Given the description of an element on the screen output the (x, y) to click on. 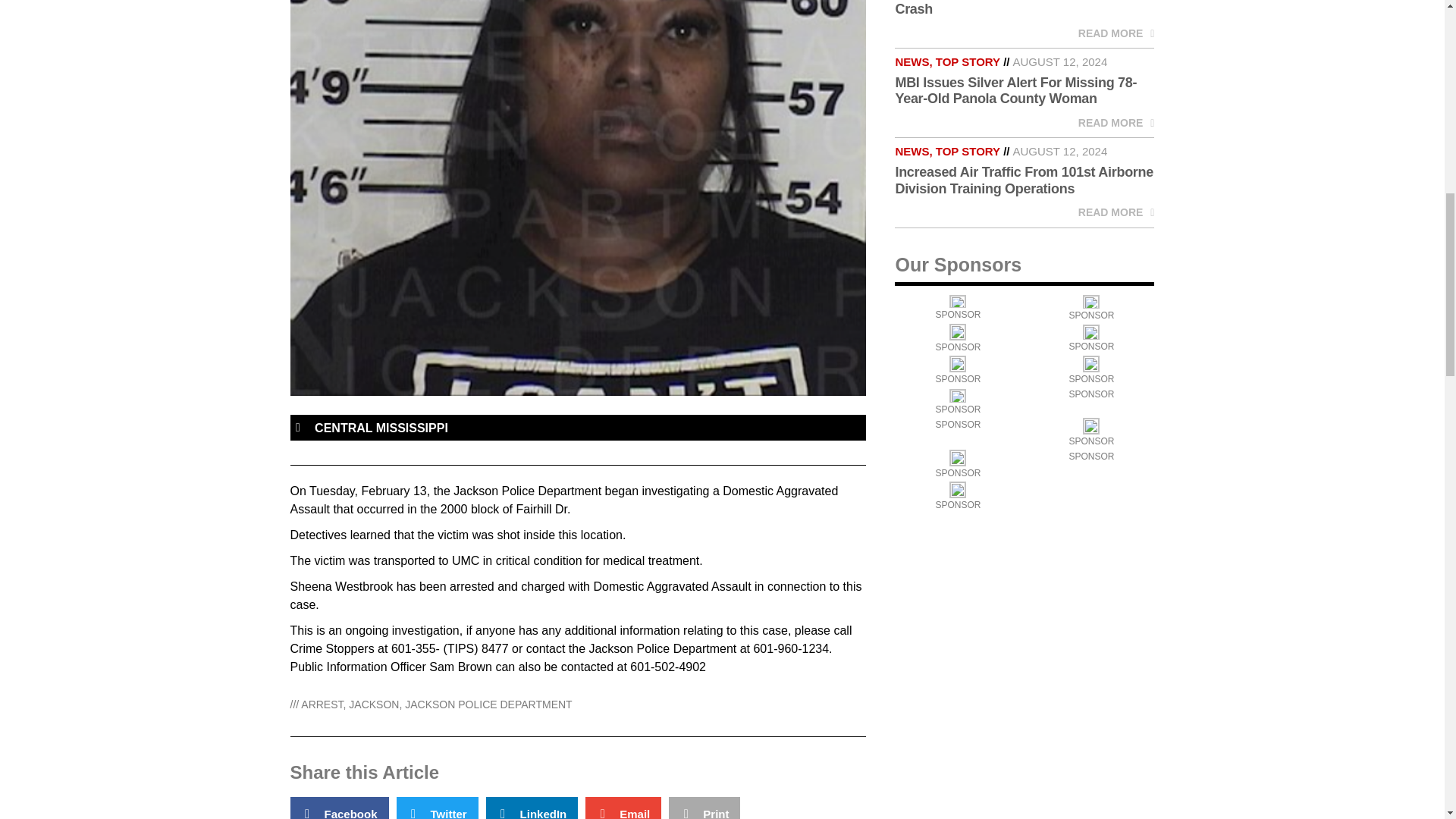
CENTRAL MISSISSIPPI (381, 427)
JACKSON POLICE DEPARTMENT (488, 704)
ARREST (321, 704)
JACKSON (373, 704)
